Given the description of an element on the screen output the (x, y) to click on. 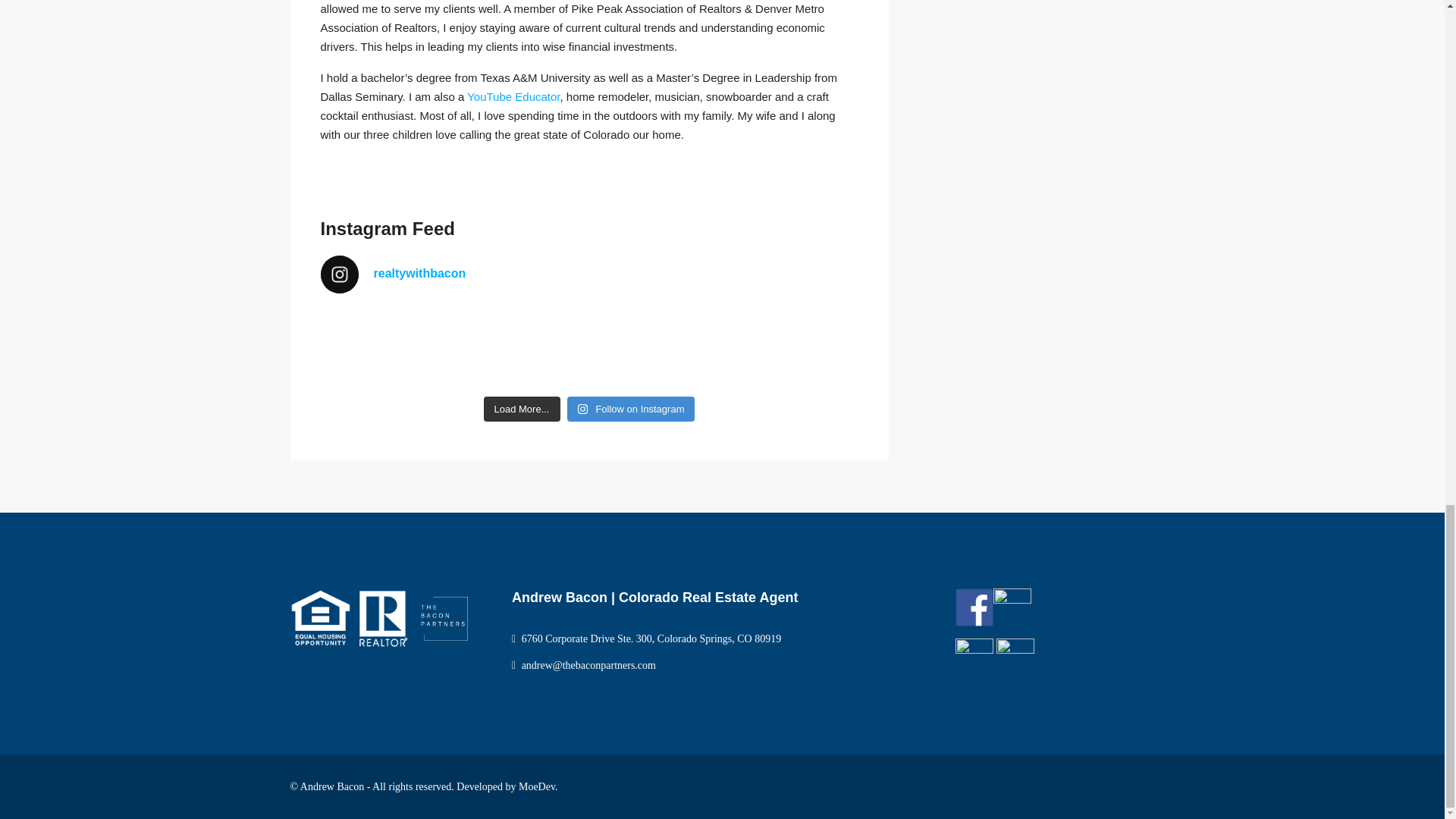
realtywithbacon (588, 274)
Follow on Instagram (631, 409)
YouTube Educator (513, 96)
Load More... (521, 409)
